Given the description of an element on the screen output the (x, y) to click on. 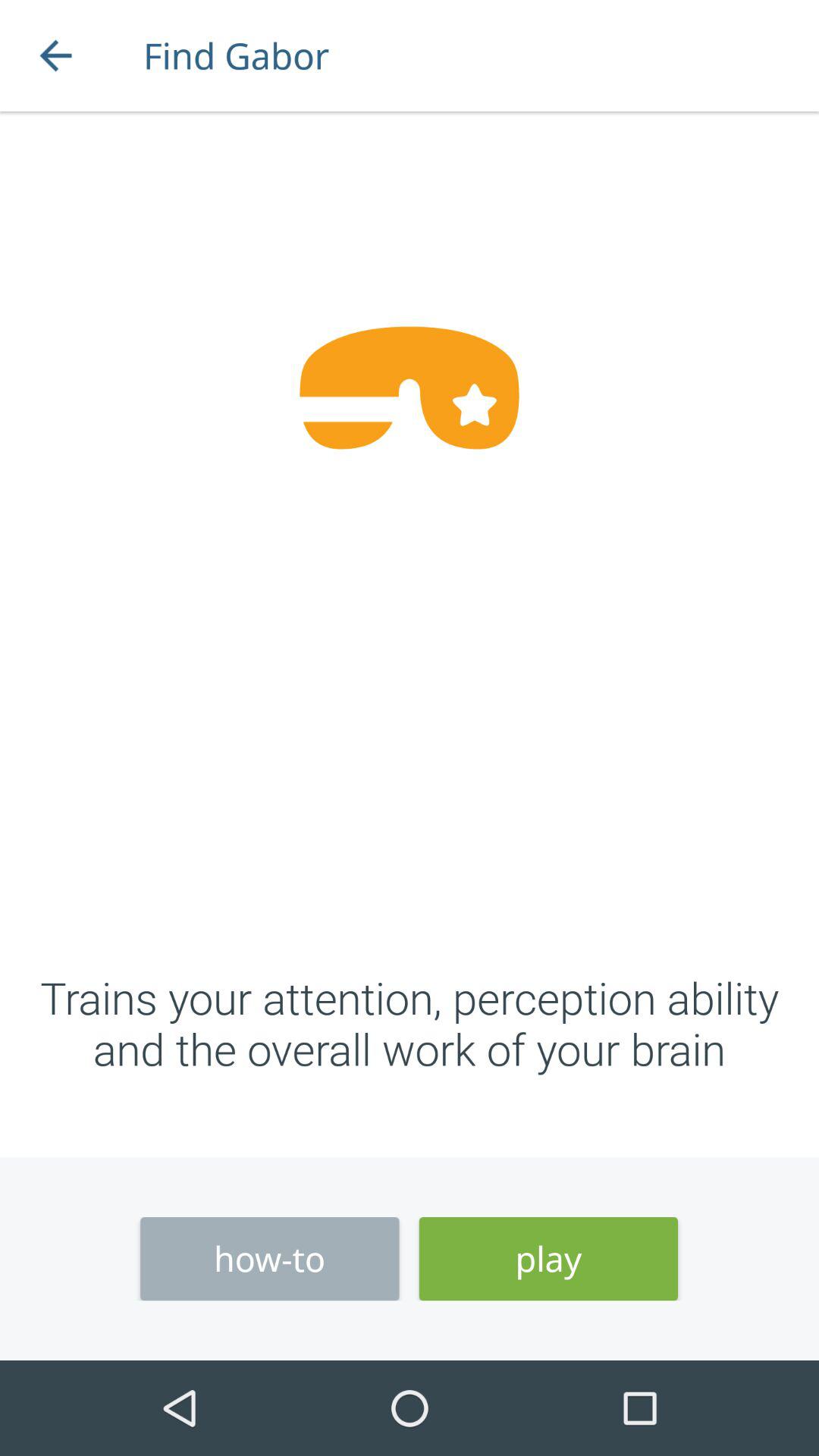
open play item (548, 1258)
